Given the description of an element on the screen output the (x, y) to click on. 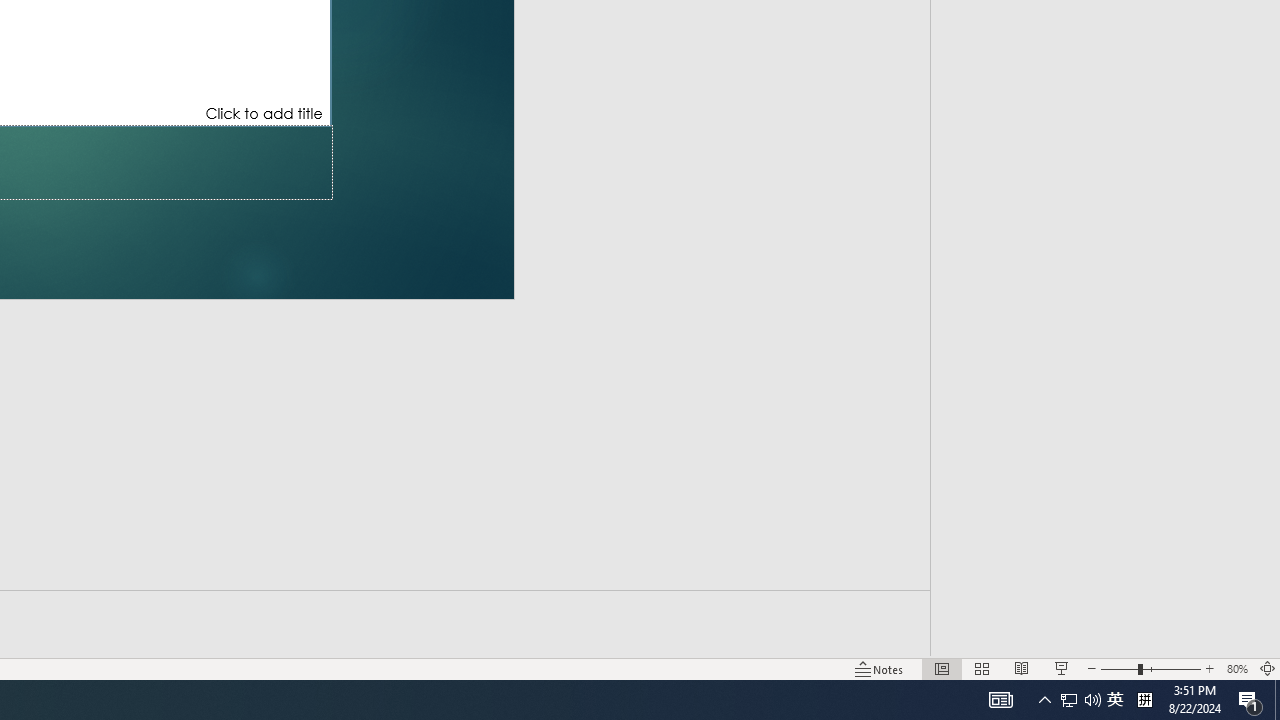
Zoom 80% (1236, 668)
